Given the description of an element on the screen output the (x, y) to click on. 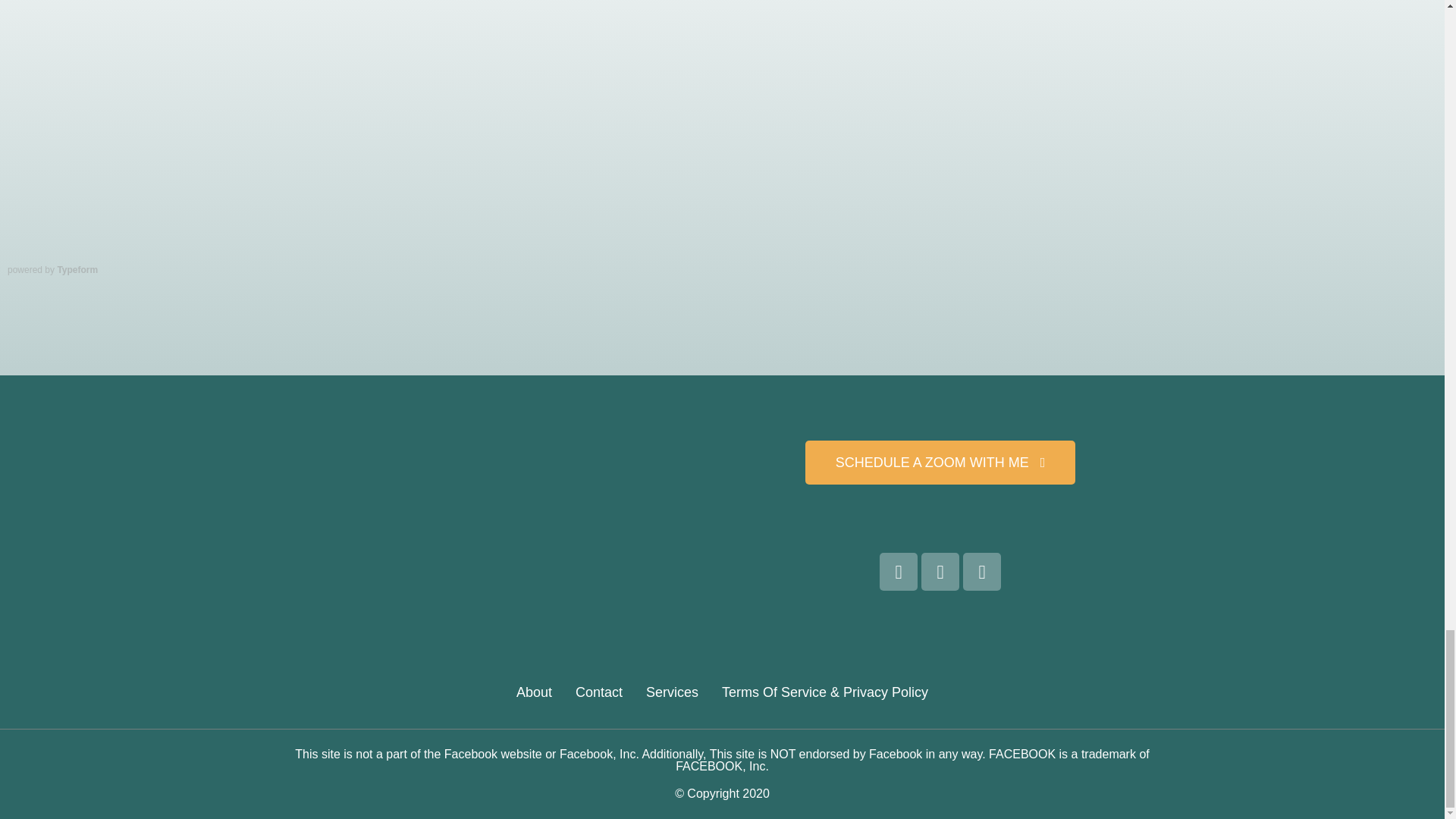
Contact (599, 692)
About (533, 692)
Services (672, 692)
SCHEDULE A ZOOM WITH ME (940, 462)
Typeform (76, 269)
trial law digital (504, 515)
